Given the description of an element on the screen output the (x, y) to click on. 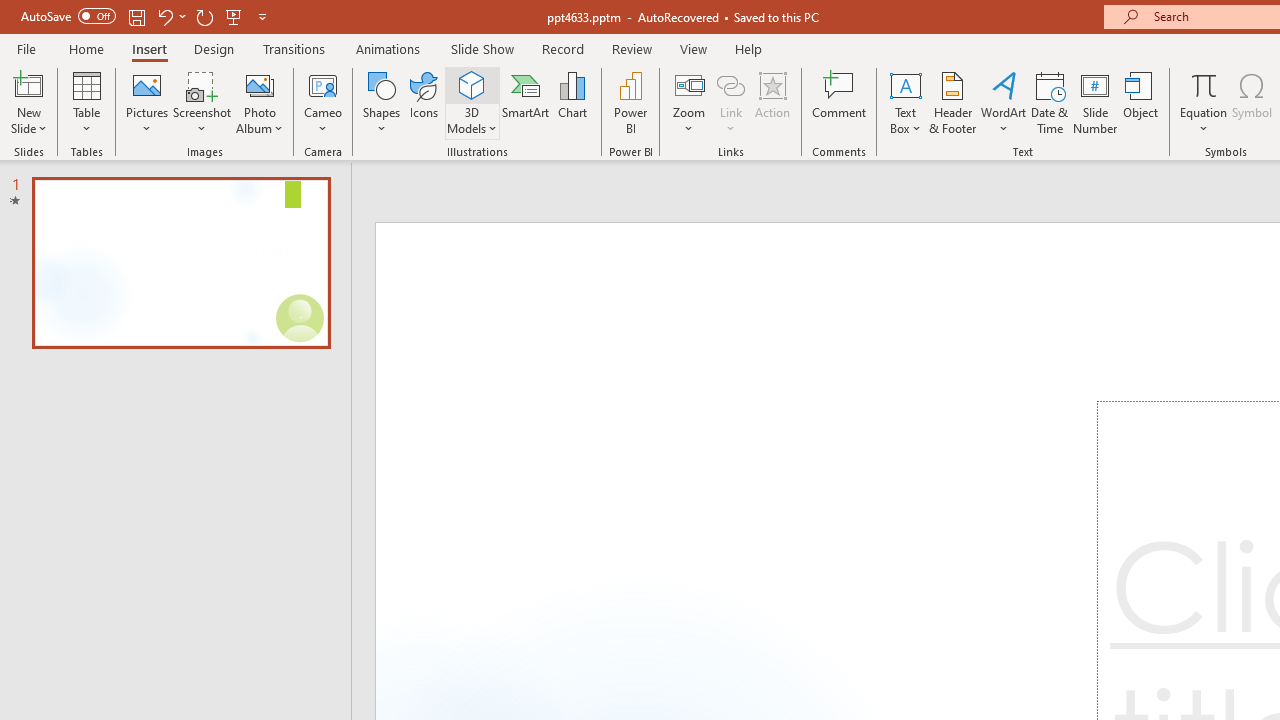
Header & Footer... (952, 102)
Power BI (630, 102)
Slide Number (1095, 102)
3D Models (472, 84)
Object... (1141, 102)
Equation (1203, 84)
